Given the description of an element on the screen output the (x, y) to click on. 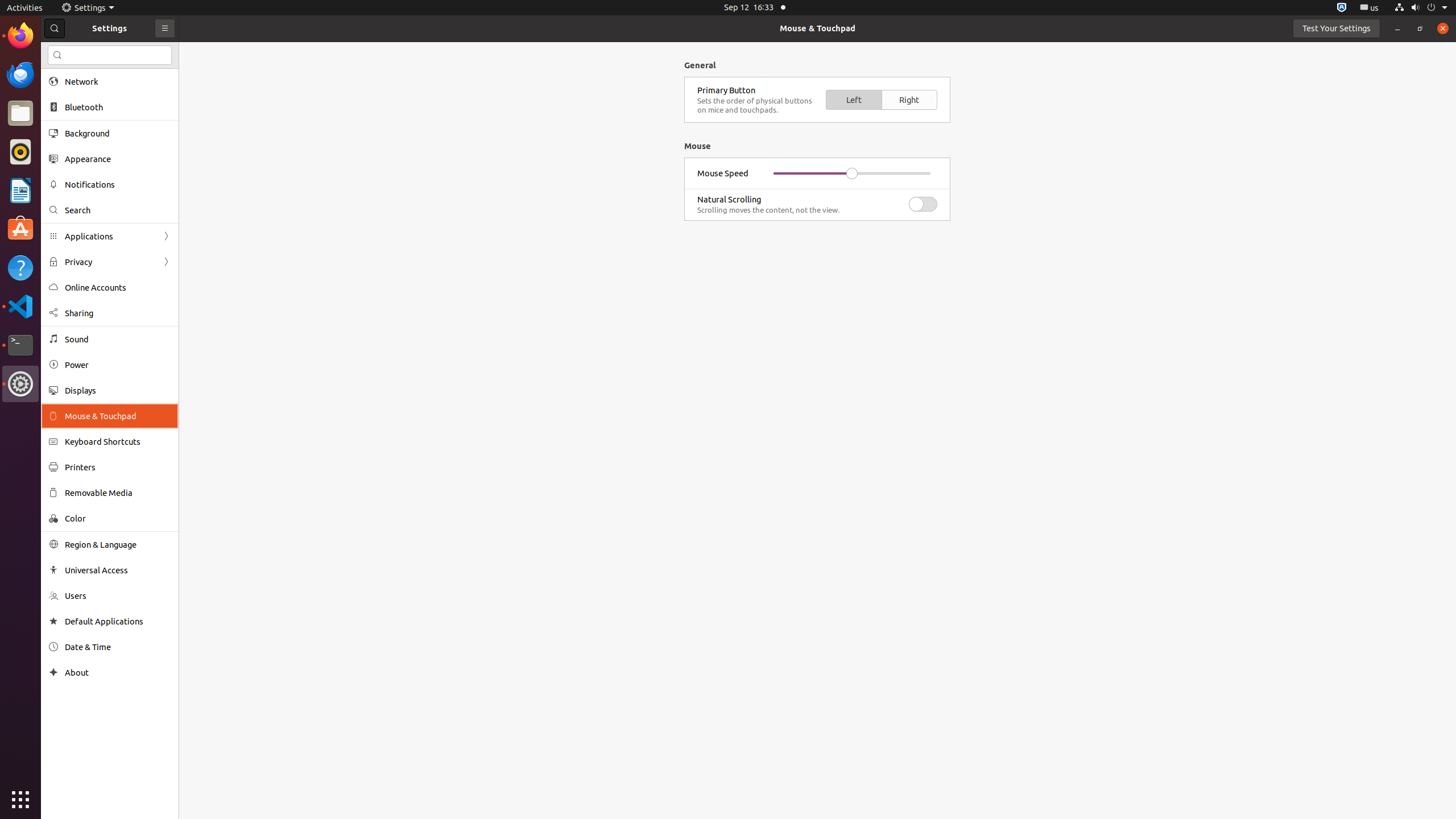
Mouse Element type: panel (817, 180)
Restore Element type: push-button (1419, 27)
About Element type: label (117, 672)
Sets the order of physical buttons on mice and touchpads. Element type: label (756, 105)
